Given the description of an element on the screen output the (x, y) to click on. 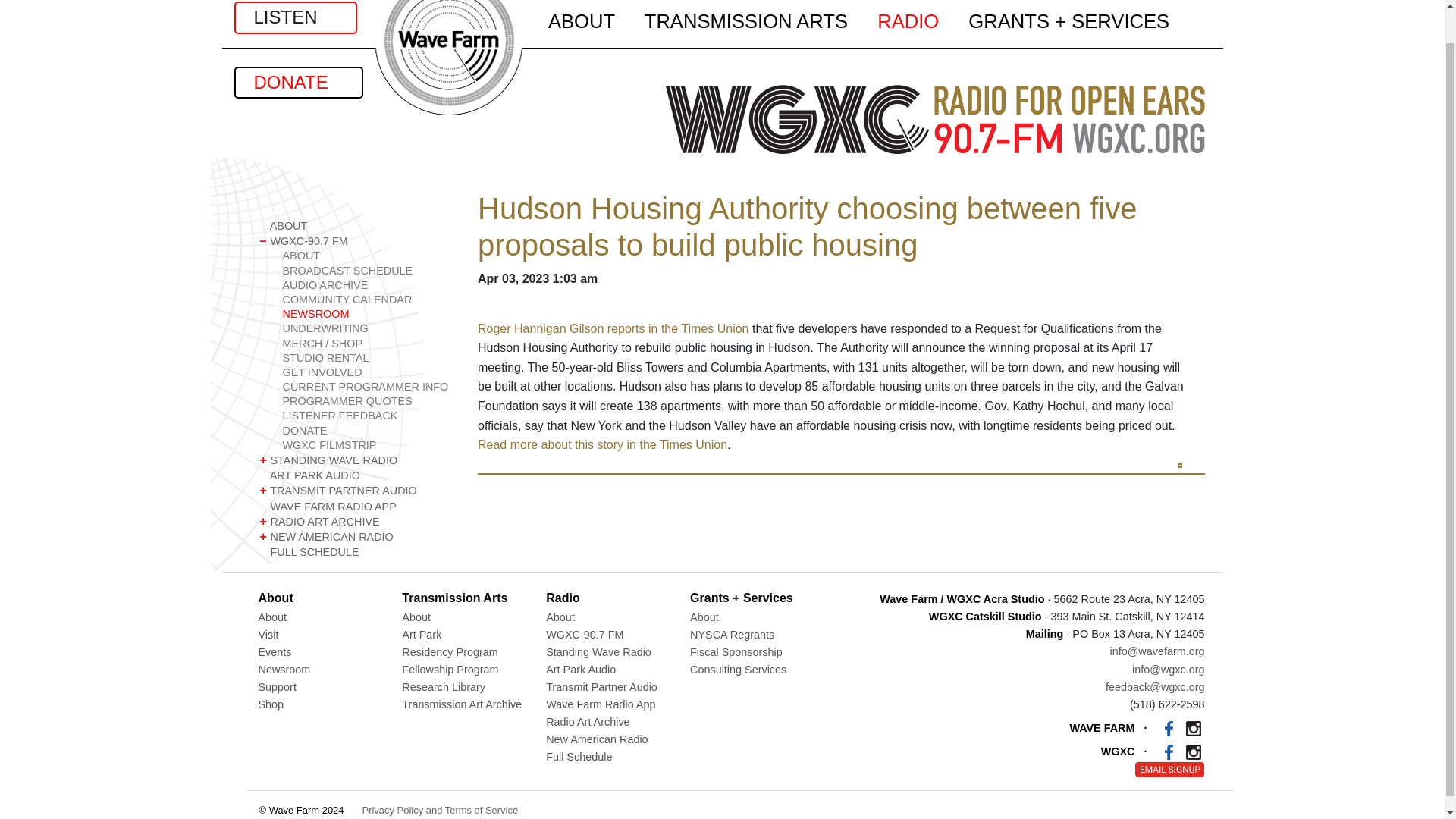
LISTEN     (294, 17)
DONATE    (297, 82)
  ABOUT (355, 225)
ABOUT (367, 255)
BROADCAST SCHEDULE (367, 270)
